Given the description of an element on the screen output the (x, y) to click on. 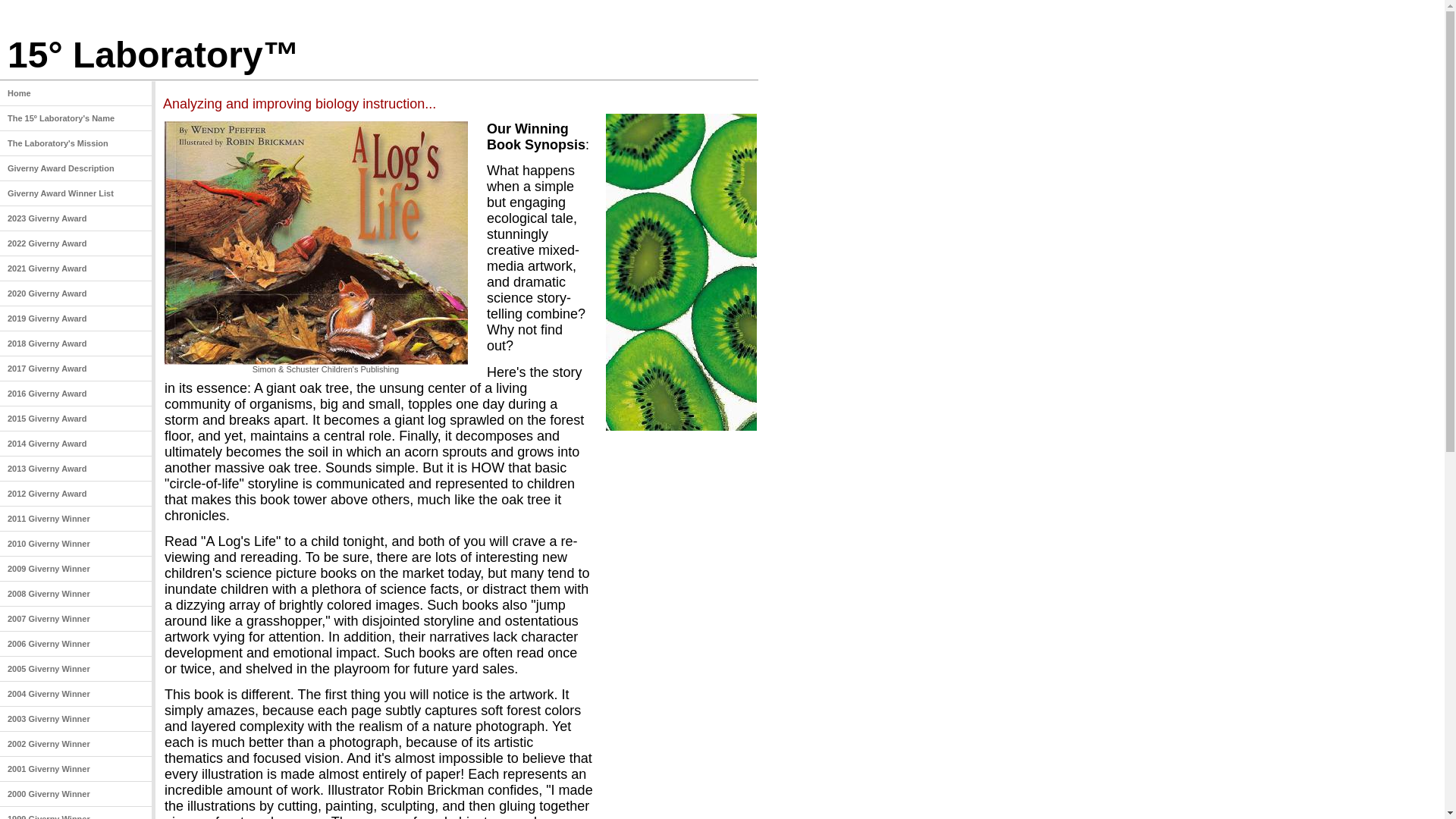
Giverny Award Winner List Element type: text (75, 193)
2022 Giverny Award Element type: text (75, 243)
2008 Giverny Winner Element type: text (75, 593)
2001 Giverny Winner Element type: text (75, 768)
The Laboratory's Mission Element type: text (75, 143)
2010 Giverny Winner Element type: text (75, 543)
Home Element type: text (75, 93)
2023 Giverny Award Element type: text (75, 218)
2004 Giverny Winner Element type: text (75, 693)
2019 Giverny Award Element type: text (75, 318)
2002 Giverny Winner Element type: text (75, 743)
2003 Giverny Winner Element type: text (75, 718)
2007 Giverny Winner Element type: text (75, 618)
2014 Giverny Award Element type: text (75, 443)
2006 Giverny Winner Element type: text (75, 643)
2018 Giverny Award Element type: text (75, 343)
2000 Giverny Winner Element type: text (75, 793)
2015 Giverny Award Element type: text (75, 418)
2021 Giverny Award Element type: text (75, 268)
2020 Giverny Award Element type: text (75, 293)
2013 Giverny Award Element type: text (75, 468)
2011 Giverny Winner Element type: text (75, 518)
2016 Giverny Award Element type: text (75, 393)
2017 Giverny Award Element type: text (75, 368)
2005 Giverny Winner Element type: text (75, 668)
2012 Giverny Award Element type: text (75, 493)
2009 Giverny Winner Element type: text (75, 568)
Giverny Award Description Element type: text (75, 168)
